Given the description of an element on the screen output the (x, y) to click on. 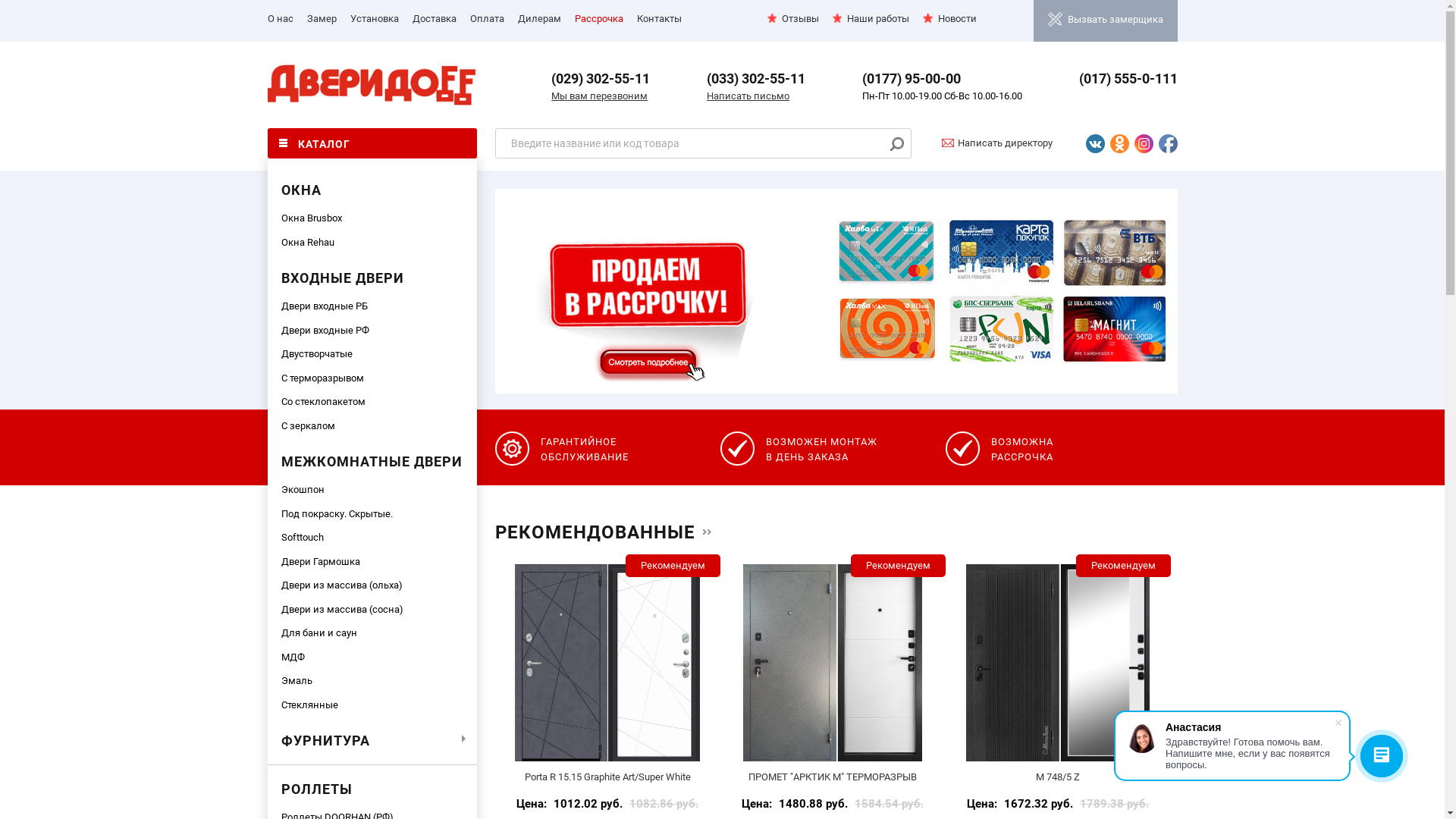
Softtouch Element type: text (371, 537)
(033) 302-55-11 Element type: text (755, 78)
(029) 302-55-11 Element type: text (600, 78)
(017) 555-0-111 Element type: text (1127, 78)
(0177) 95-00-00 Element type: text (911, 78)
Porta R 15.15 Graphite Art/Super White Element type: hover (606, 662)
Porta R 15.15 Graphite Art/Super White Element type: text (607, 776)
